Given the description of an element on the screen output the (x, y) to click on. 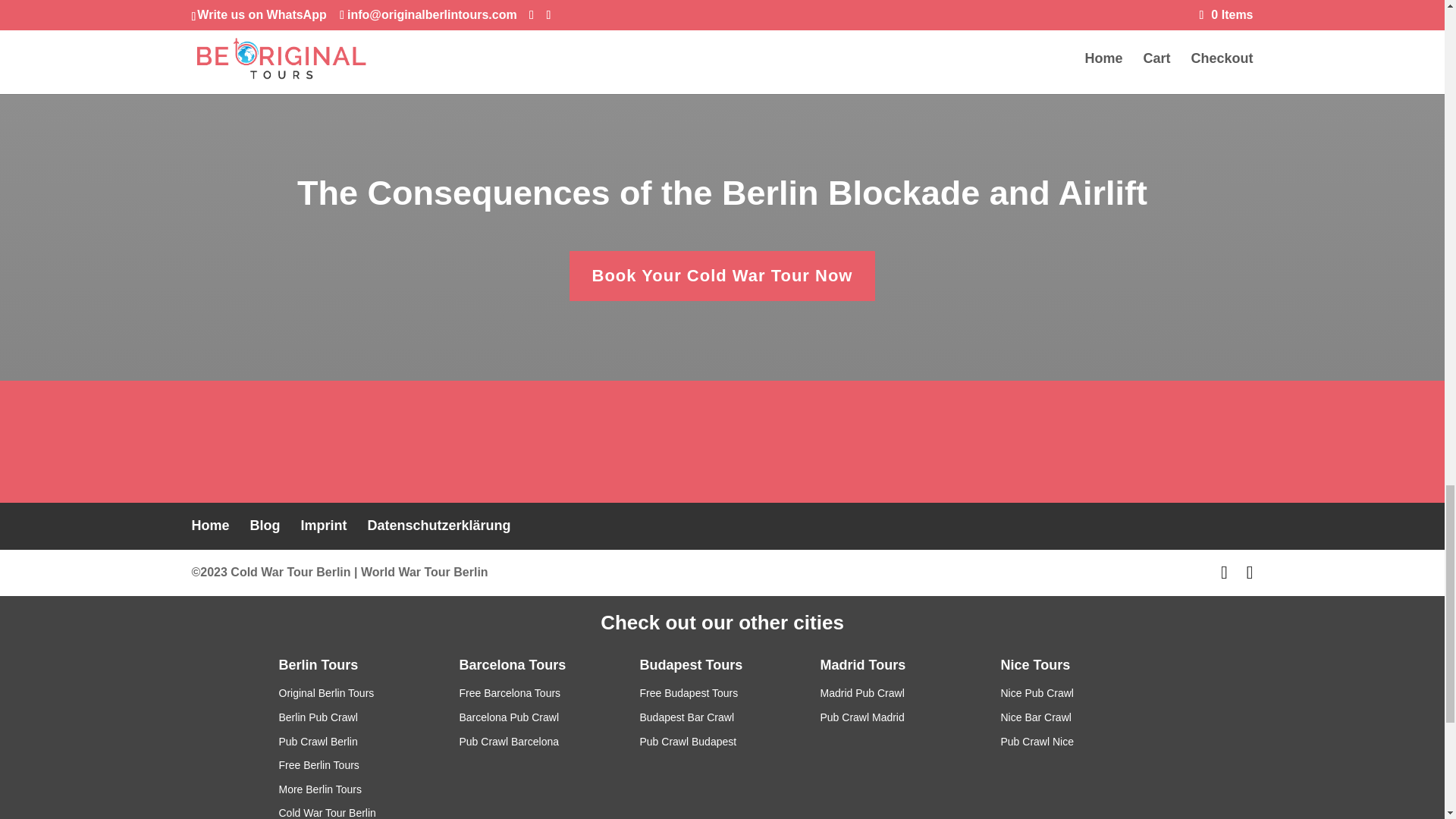
Original Berlin Tours (326, 693)
Book Your Cold War Tour Now (722, 276)
Cold War Tour Berlin (290, 571)
Free Berlin Tours (319, 765)
Cold War Tour Berlin (327, 812)
Imprint (324, 525)
Berlin Pub Crawl (318, 717)
Barcelona Pub Crawl (509, 717)
Free Barcelona Tours (510, 693)
Pub Crawl Budapest (688, 741)
